Given the description of an element on the screen output the (x, y) to click on. 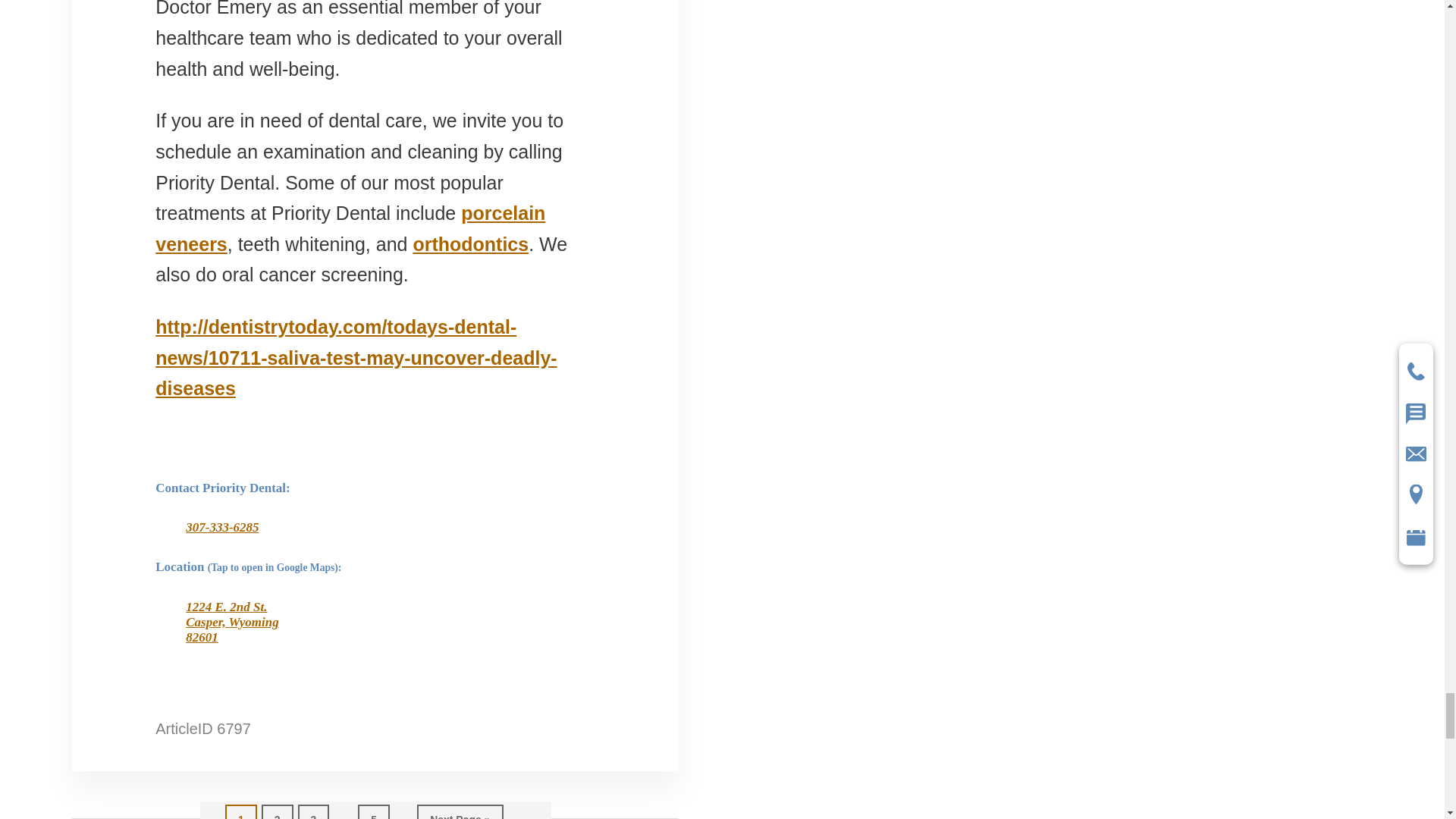
top dentist Casper (349, 228)
